Given the description of an element on the screen output the (x, y) to click on. 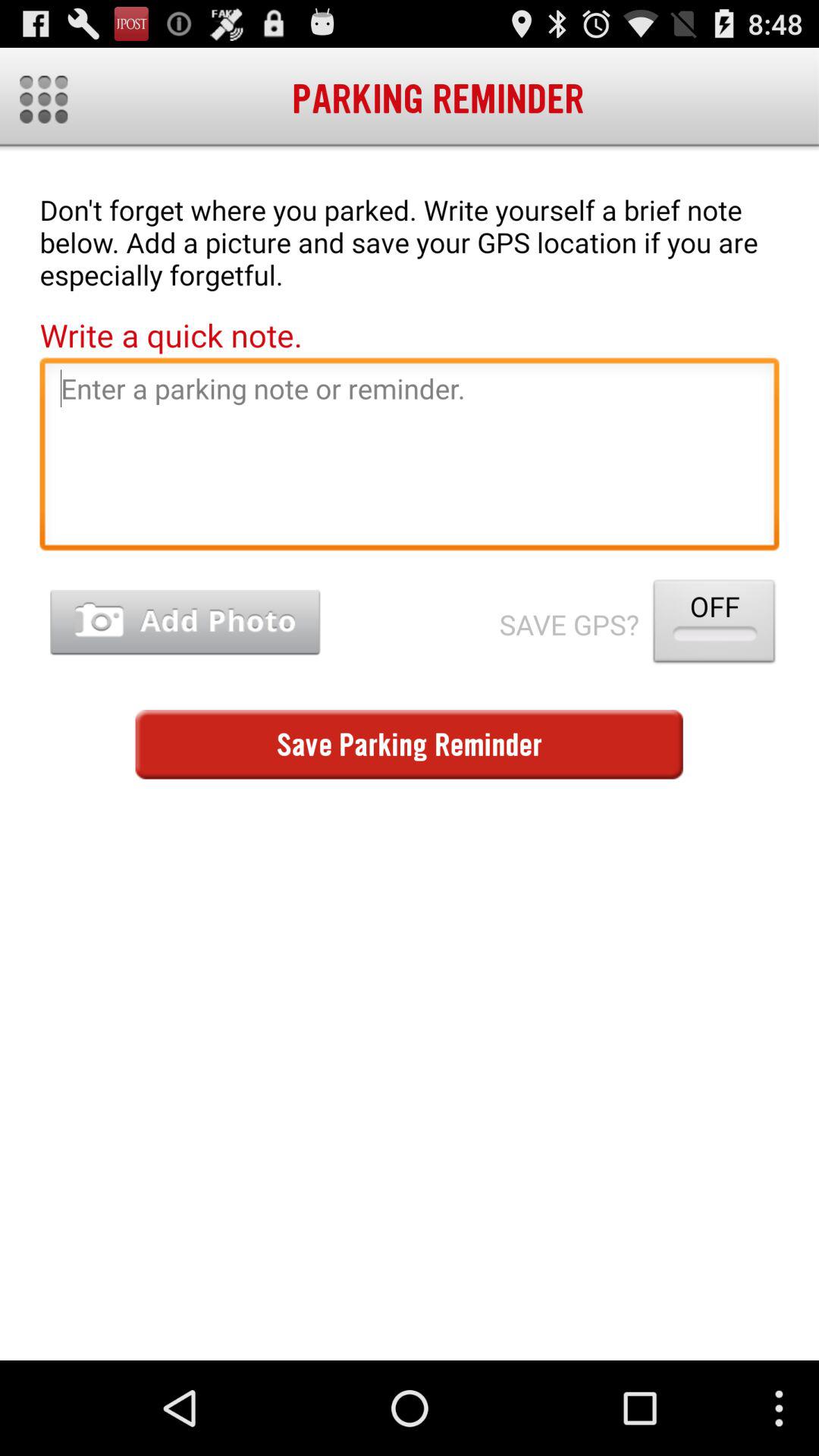
launch the app to the right of save gps? (714, 624)
